Given the description of an element on the screen output the (x, y) to click on. 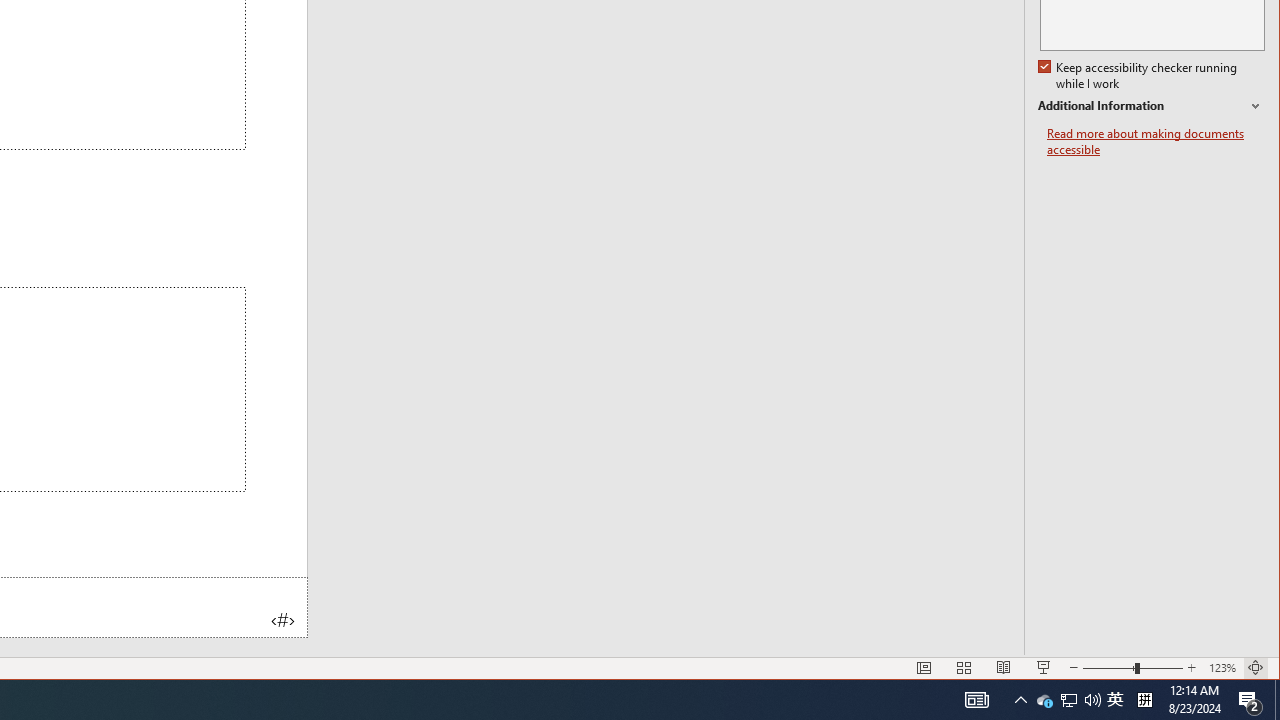
Zoom 123% (1222, 668)
